Given the description of an element on the screen output the (x, y) to click on. 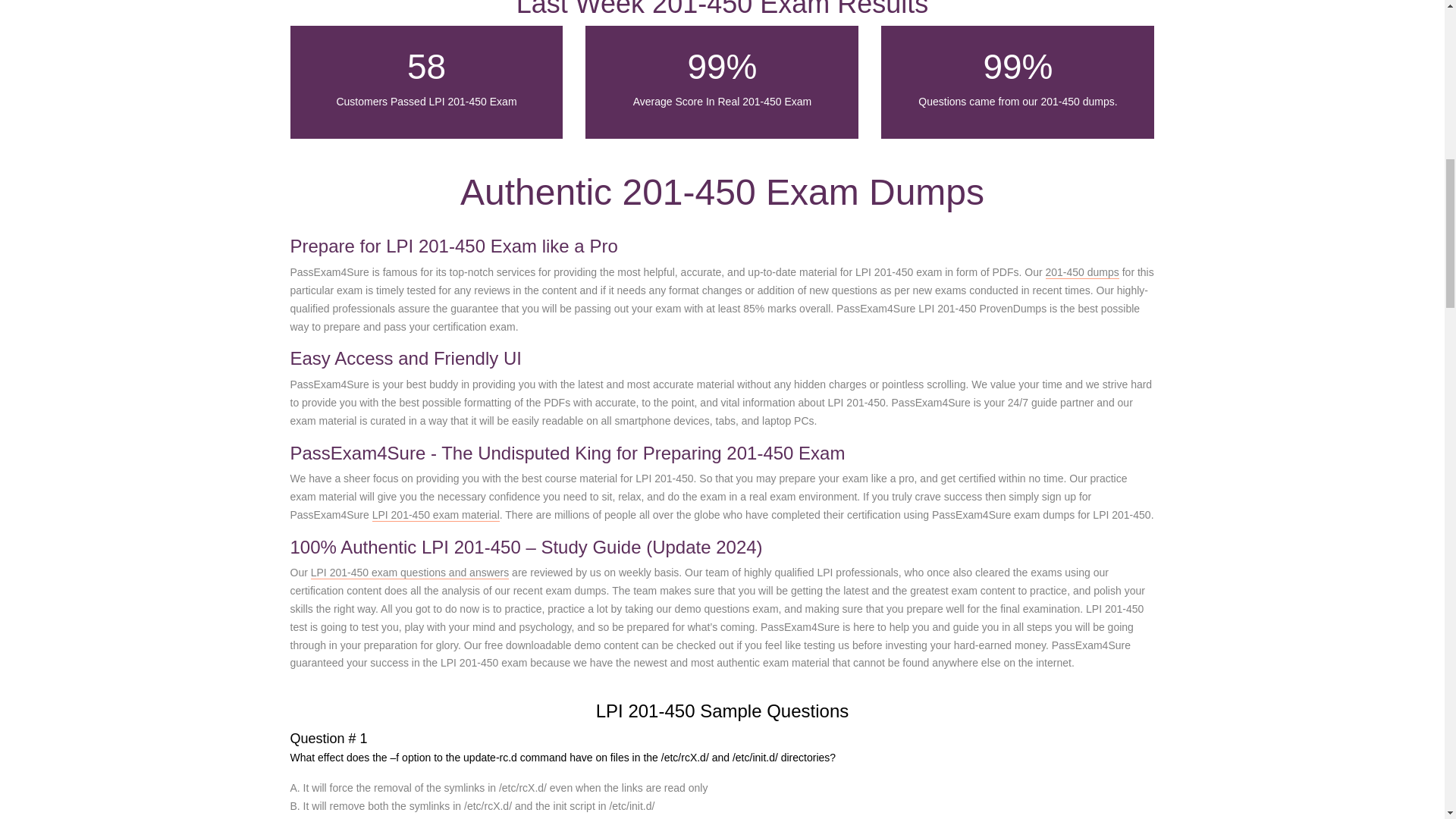
LPI 201-450 exam material (435, 514)
LPI 201-450 exam questions and answers (410, 572)
201-450 dumps (1082, 272)
